Given the description of an element on the screen output the (x, y) to click on. 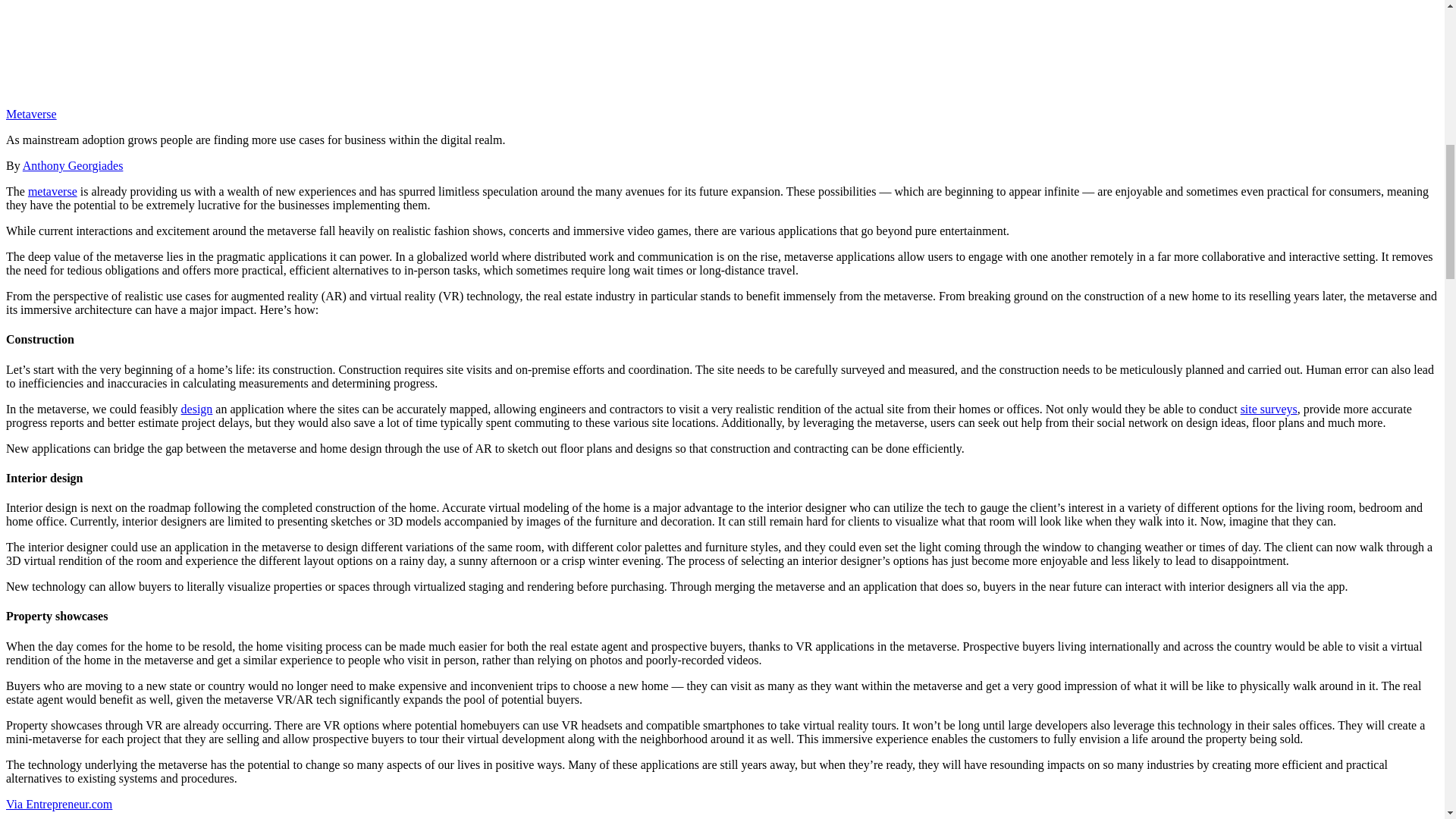
site surveys (1268, 408)
Anthony Georgiades (73, 164)
Metaverse (30, 113)
metaverse (52, 191)
design (196, 408)
Via Entrepreneur.com (58, 803)
